Given the description of an element on the screen output the (x, y) to click on. 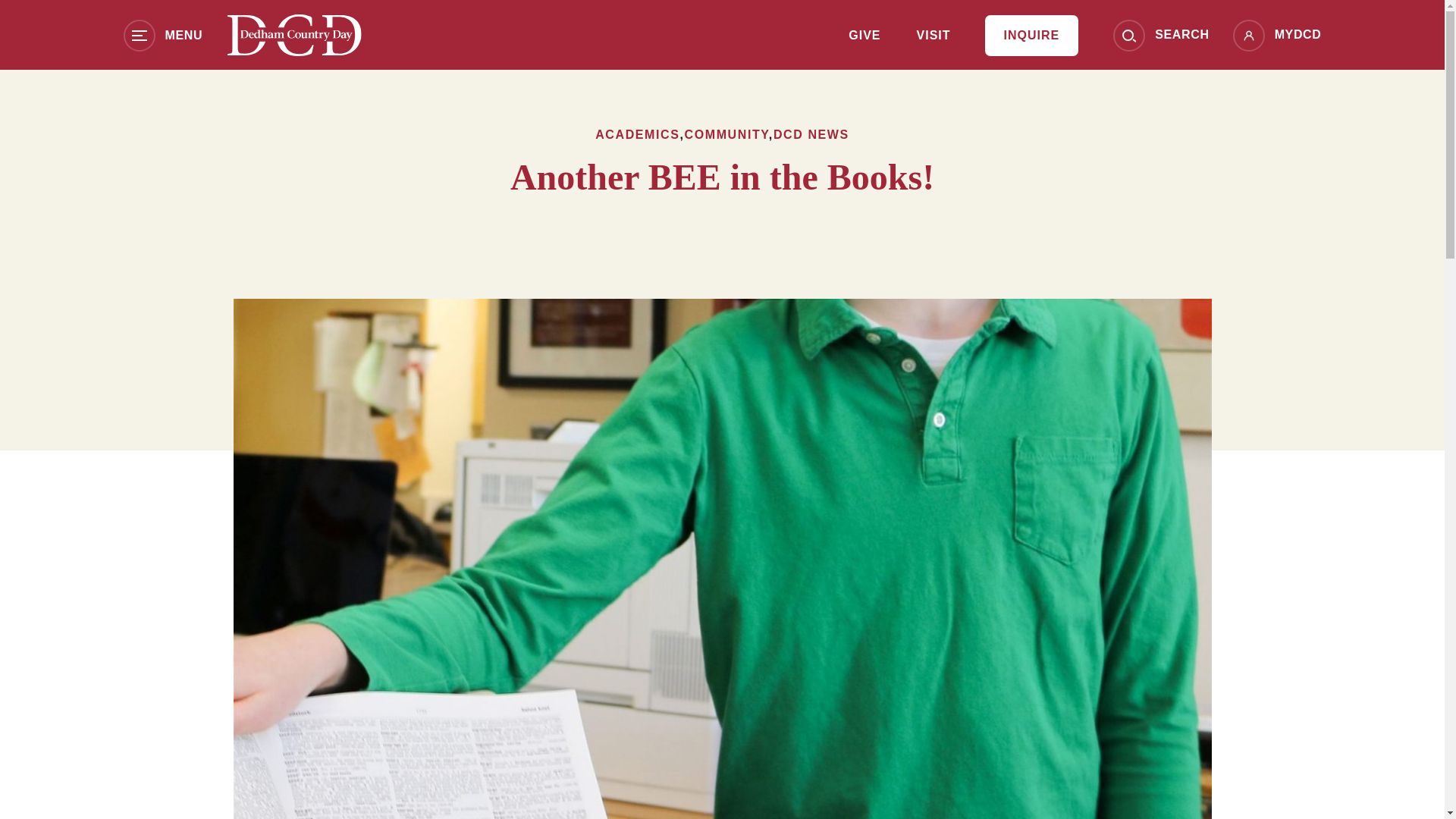
INQUIRE (1031, 35)
VISIT (933, 35)
GIVE (864, 35)
SEARCH (1160, 35)
MYDCD (1277, 35)
